Given the description of an element on the screen output the (x, y) to click on. 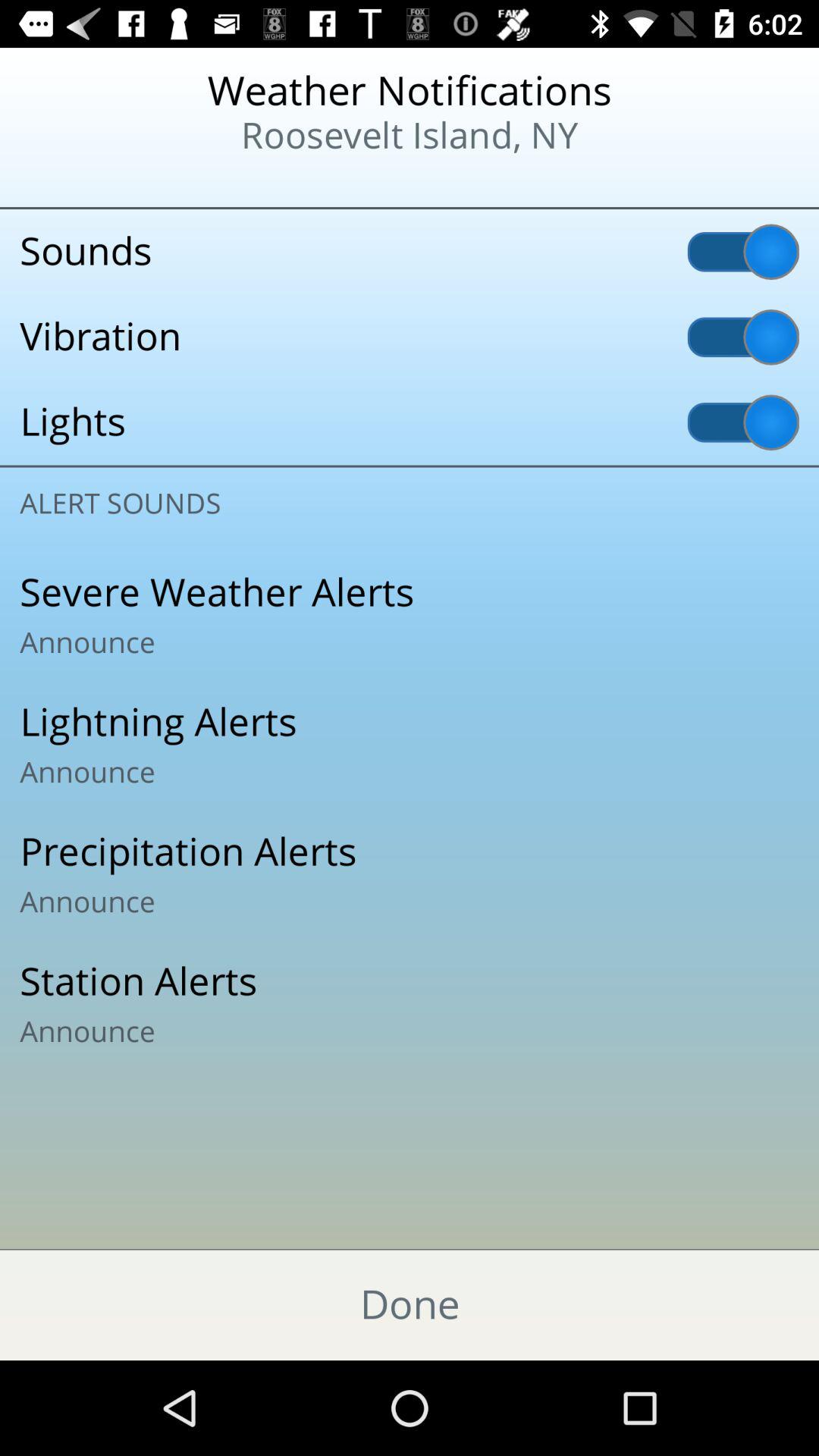
swipe until the vibration (409, 336)
